Given the description of an element on the screen output the (x, y) to click on. 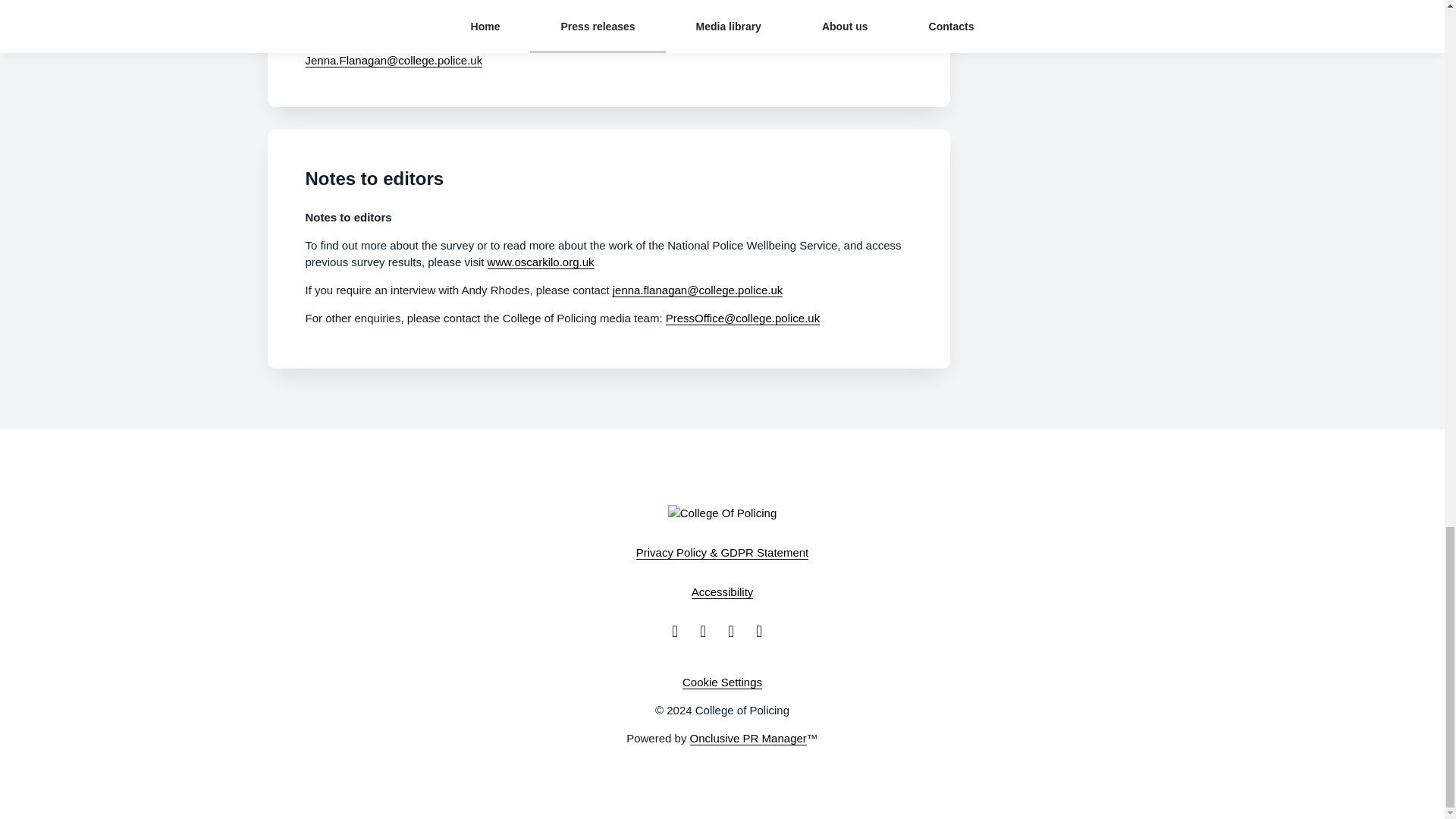
LinkedIn (764, 631)
Accessibility (722, 591)
YouTube (736, 631)
Facebook (679, 631)
Cookie Settings (721, 682)
www.oscarkilo.org.uk (540, 262)
Onclusive PR Manager (748, 738)
Twitter (708, 631)
College Of Policing (722, 513)
Accessibility (722, 591)
